Given the description of an element on the screen output the (x, y) to click on. 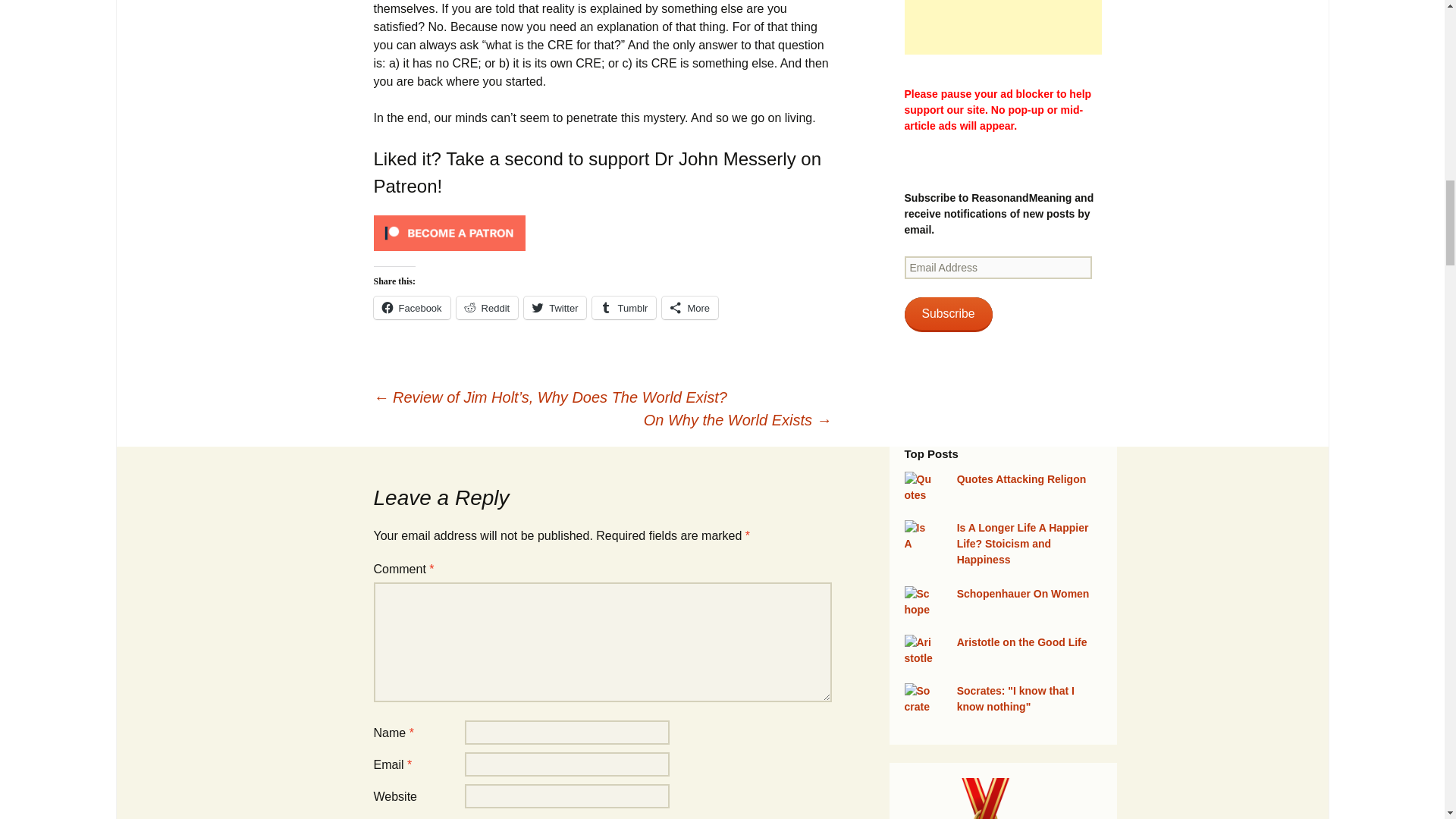
Click to share on Reddit (487, 307)
Click to share on Facebook (410, 307)
Advertisement (1002, 27)
Click to share on Twitter (555, 307)
Click to share on Tumblr (624, 307)
